Given the description of an element on the screen output the (x, y) to click on. 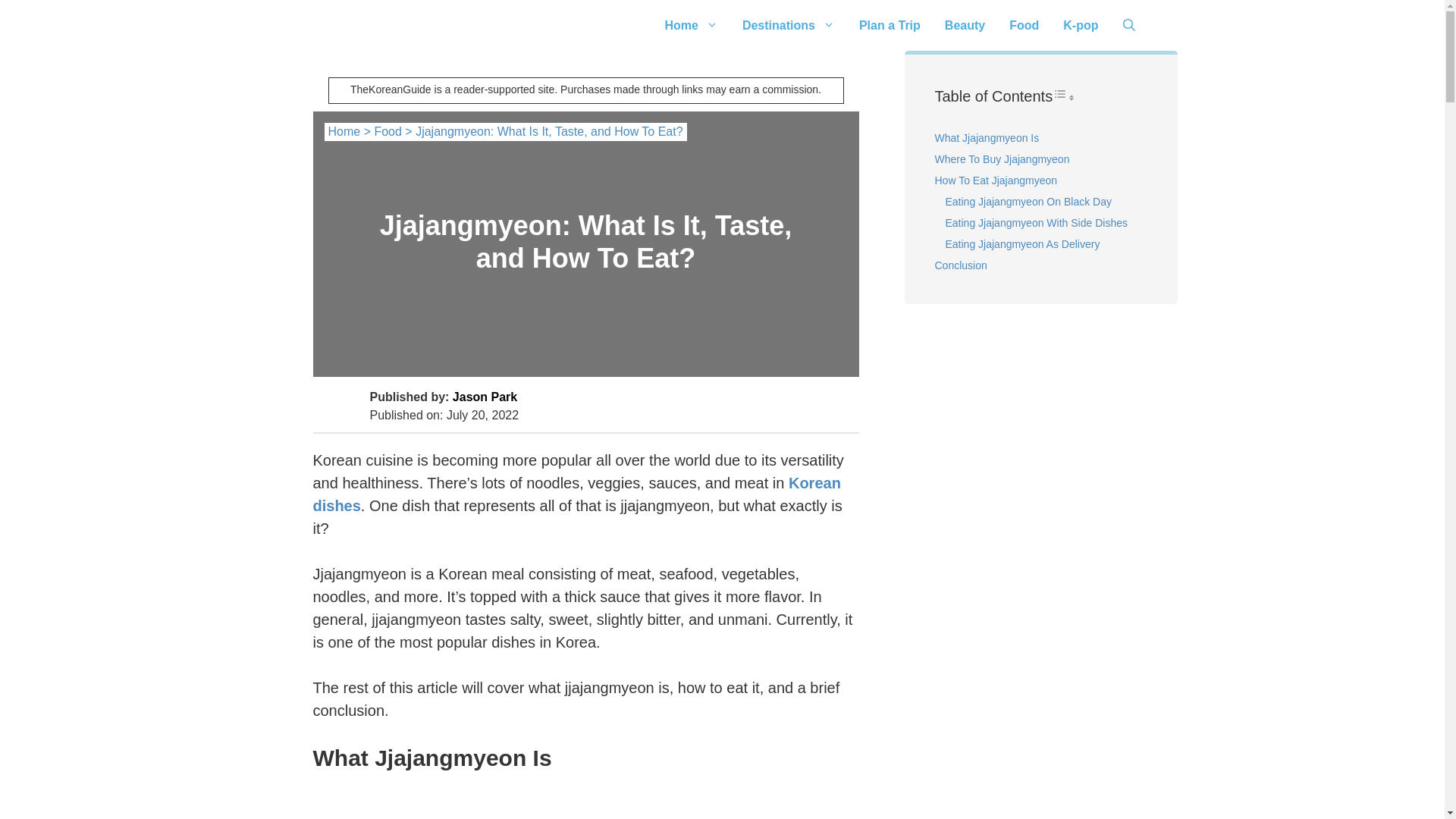
Beauty (965, 25)
Jason Park (484, 396)
Conclusion (960, 265)
How To Eat Jjajangmyeon (995, 180)
How To Eat Jjajangmyeon (995, 180)
Eating Jjajangmyeon With Side Dishes (1035, 223)
TheKoreanGuide (390, 25)
Conclusion (960, 265)
Food (387, 131)
Home (690, 25)
